Given the description of an element on the screen output the (x, y) to click on. 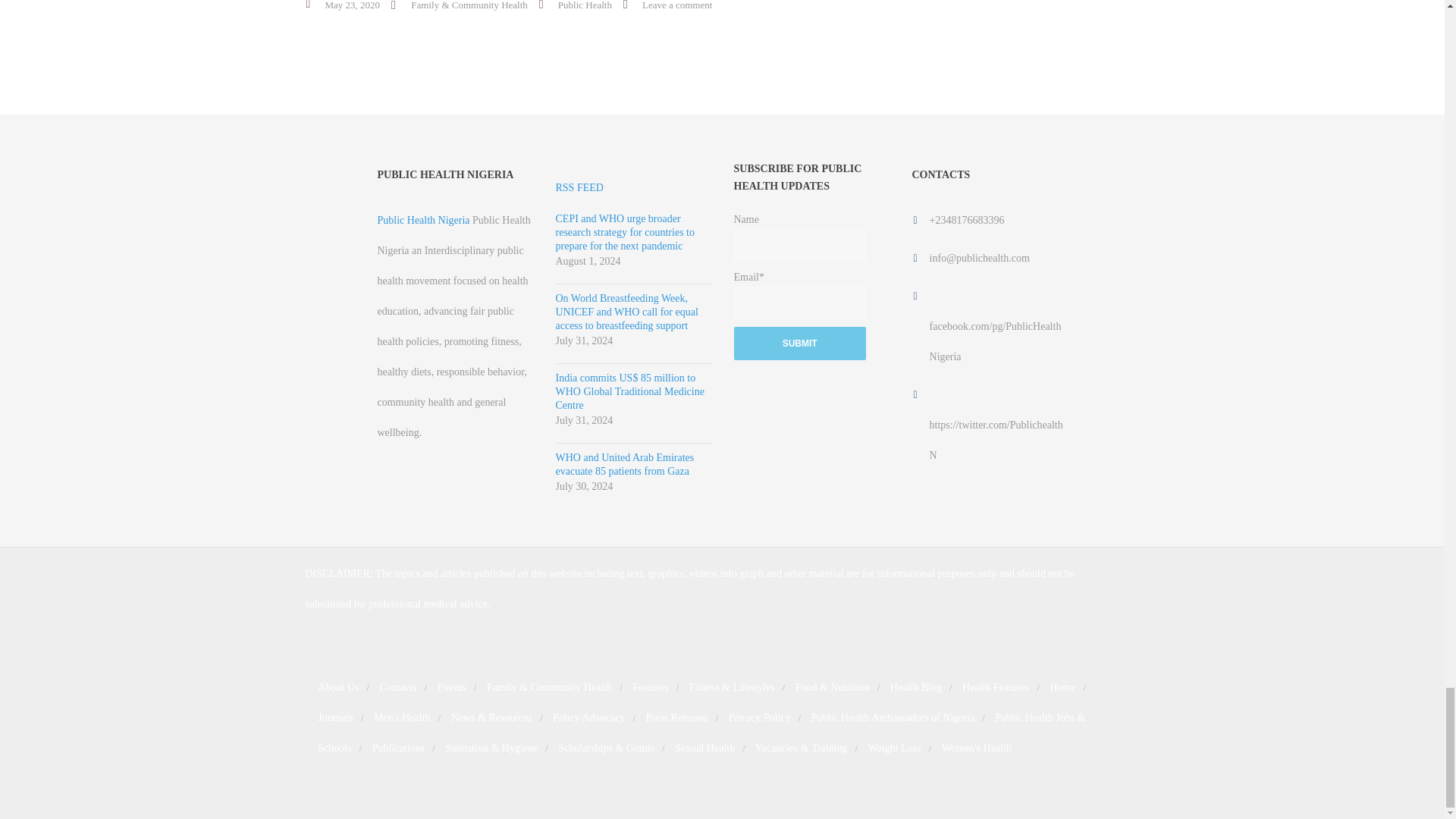
View all posts by Public Health (584, 5)
Submit (799, 342)
